Given the description of an element on the screen output the (x, y) to click on. 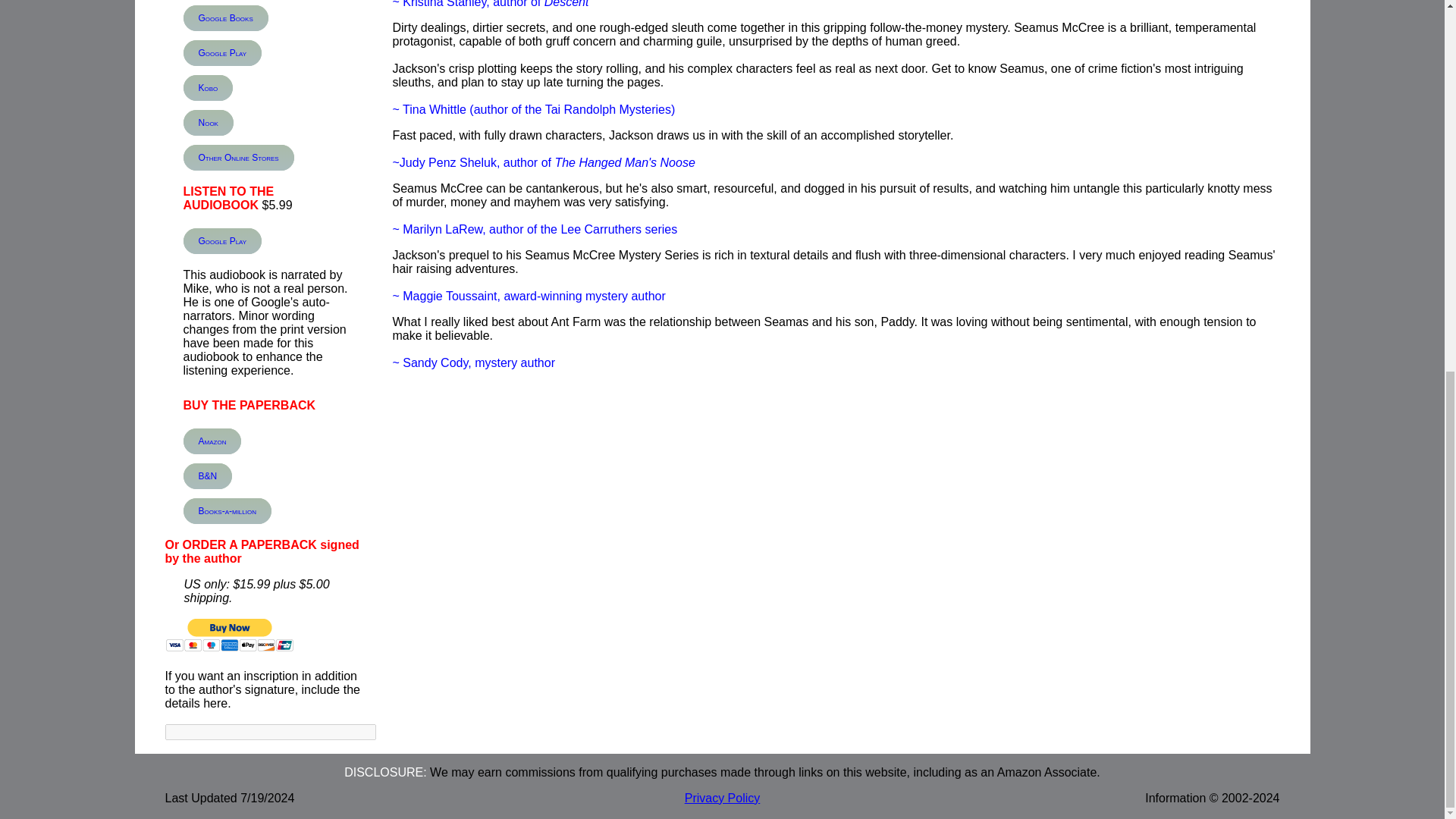
Other Online Stores (238, 157)
Google Books (225, 17)
Nook (207, 122)
Google Play (222, 240)
Privacy Policy (722, 797)
Books-a-million (226, 510)
Amazon (212, 441)
Kobo (207, 87)
Google Play (222, 53)
